Given the description of an element on the screen output the (x, y) to click on. 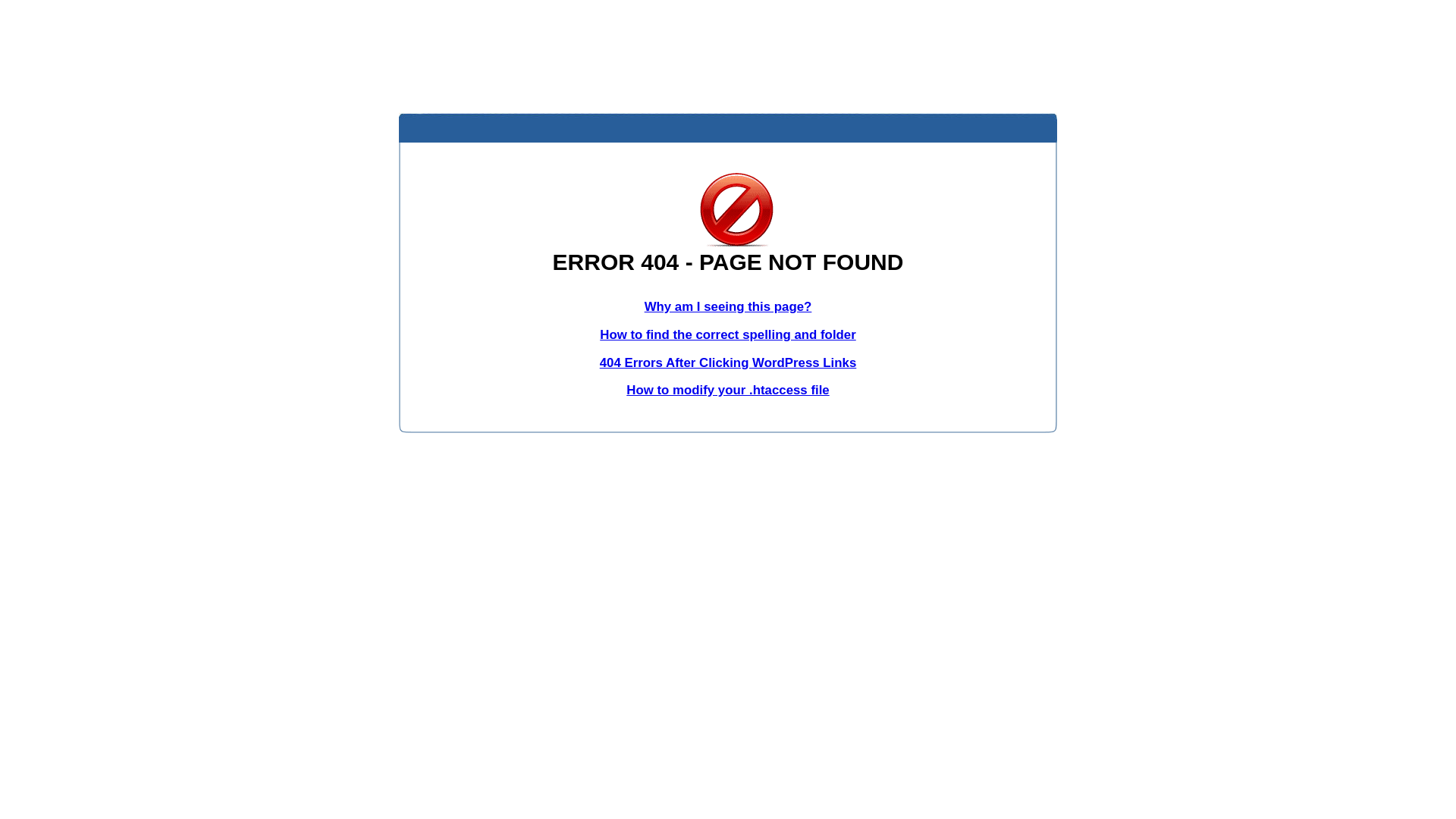
How to modify your .htaccess file Element type: text (727, 389)
Why am I seeing this page? Element type: text (728, 306)
404 Errors After Clicking WordPress Links Element type: text (727, 362)
How to find the correct spelling and folder Element type: text (727, 334)
